Given the description of an element on the screen output the (x, y) to click on. 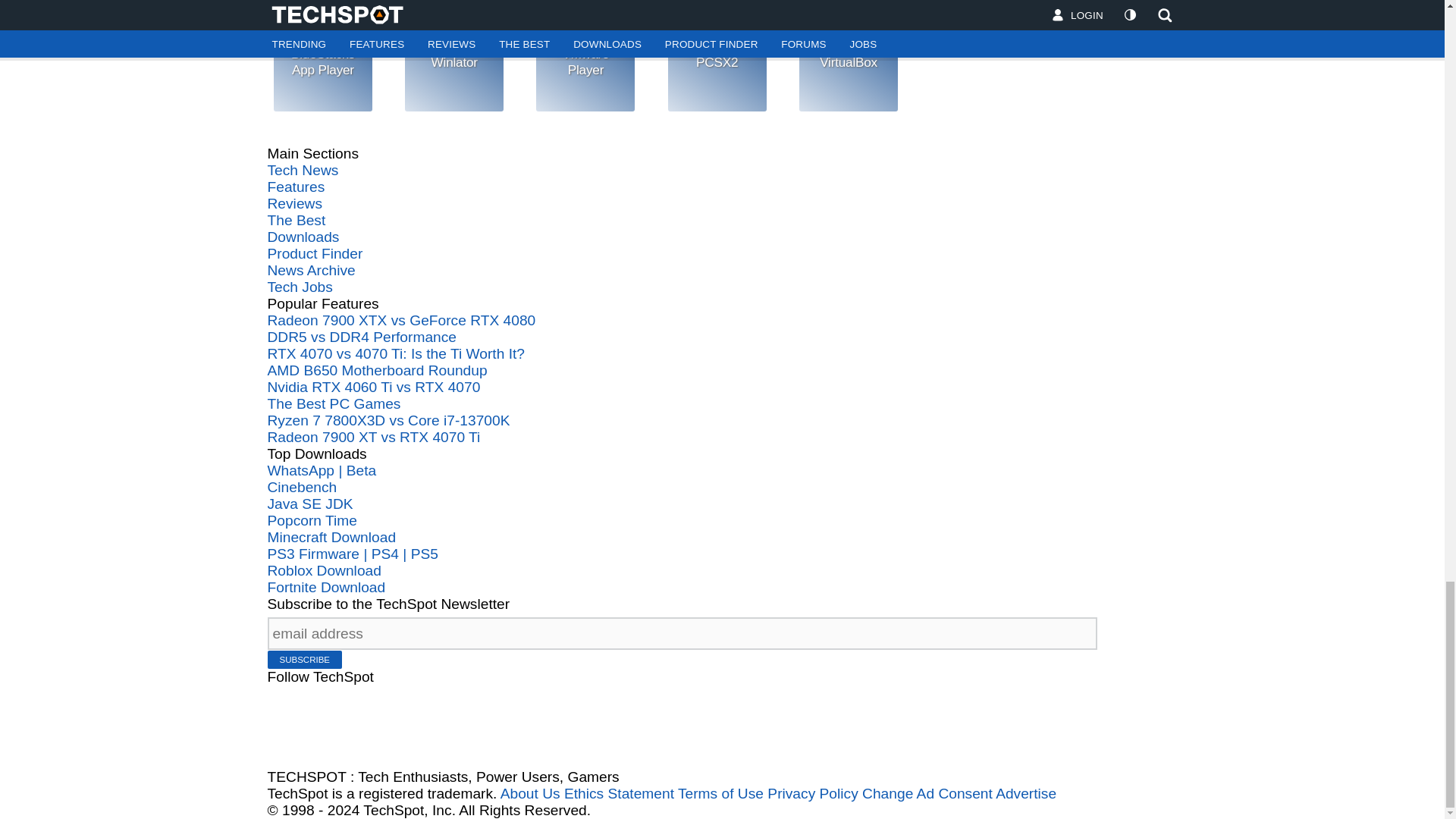
Subscribe (304, 659)
